Given the description of an element on the screen output the (x, y) to click on. 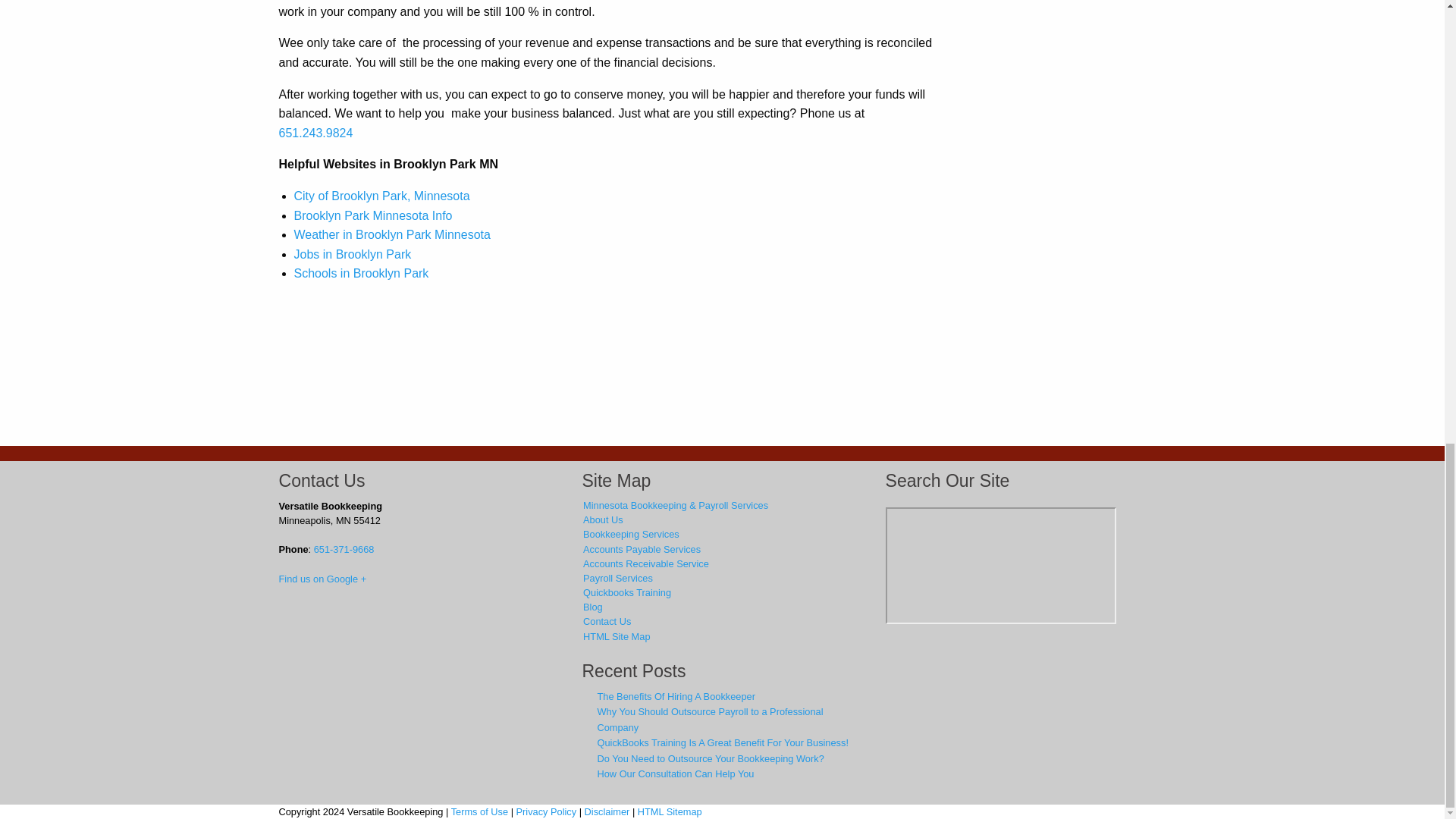
Weather in Brooklyn Park Minnesota (392, 234)
Accounts Payable Services (720, 549)
651-371-9668 (344, 549)
651.243.9824 (316, 132)
Quickbooks Training (720, 593)
Schools in Brooklyn Park (361, 273)
Brooklyn Park Minnesota Info (373, 215)
Payroll Services (720, 578)
Jobs in Brooklyn Park (353, 254)
City of Brooklyn Park, Minnesota (382, 195)
